Given the description of an element on the screen output the (x, y) to click on. 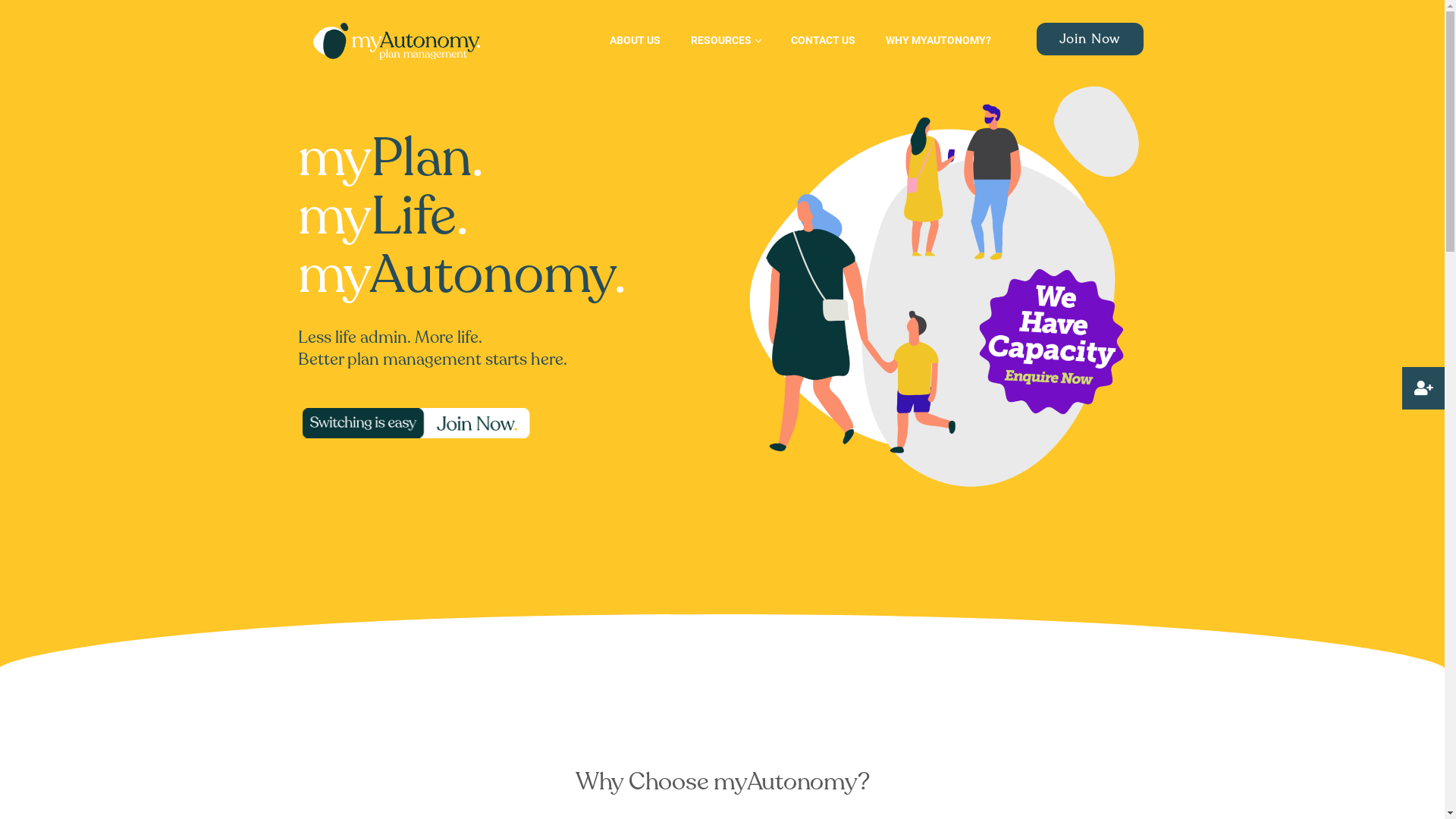
Join Now Element type: text (1089, 38)
CONTACT US Element type: text (822, 40)
SIE_JN_BUTTON Element type: hover (417, 423)
RESOURCES Element type: text (725, 40)
WHY MYAUTONOMY? Element type: text (938, 40)
ABOUT US Element type: text (634, 40)
